Given the description of an element on the screen output the (x, y) to click on. 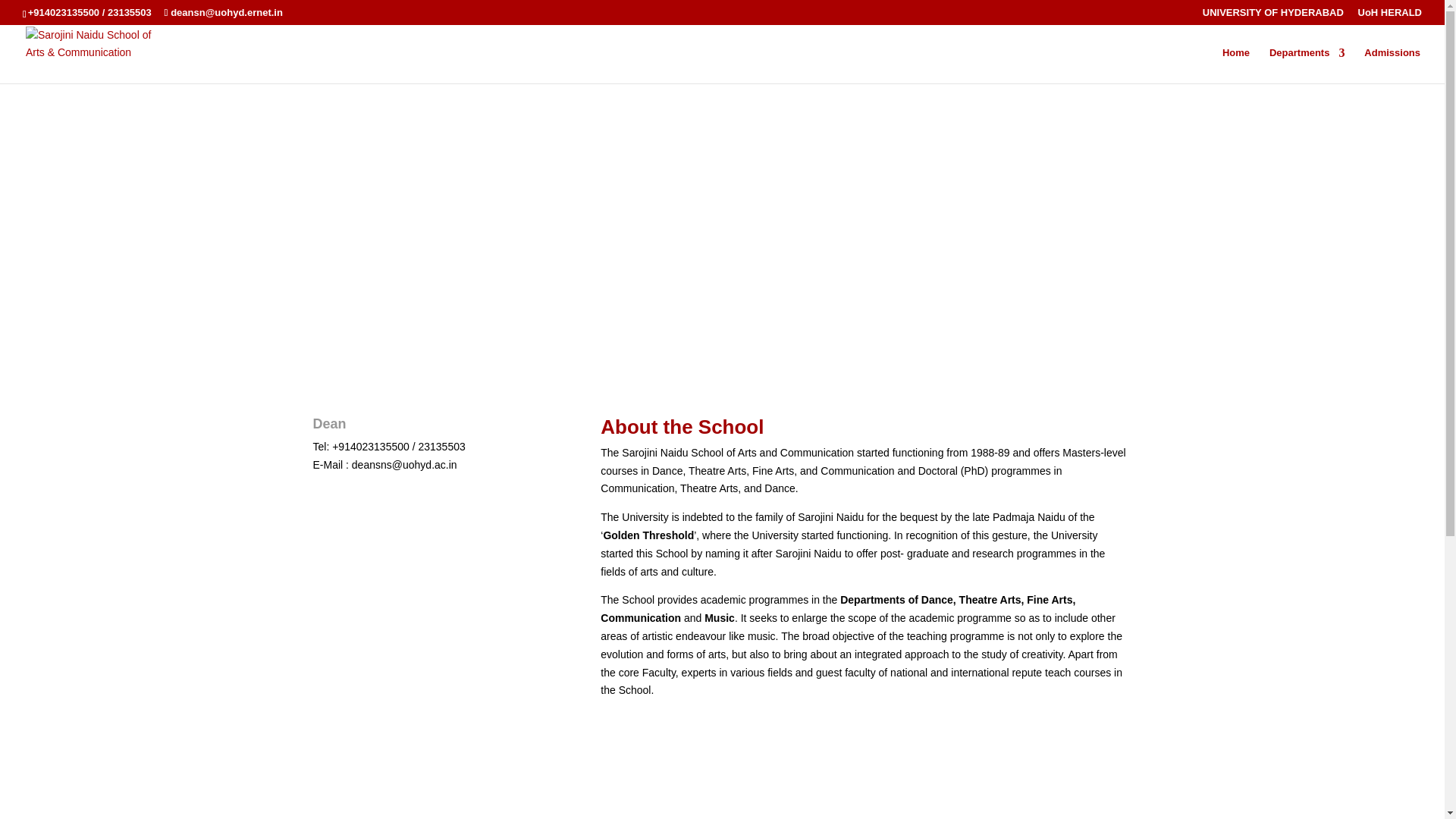
UNIVERSITY OF HYDERABAD (1272, 16)
Admissions (1392, 65)
Departments (1306, 65)
UoH HERALD (1389, 16)
